Given the description of an element on the screen output the (x, y) to click on. 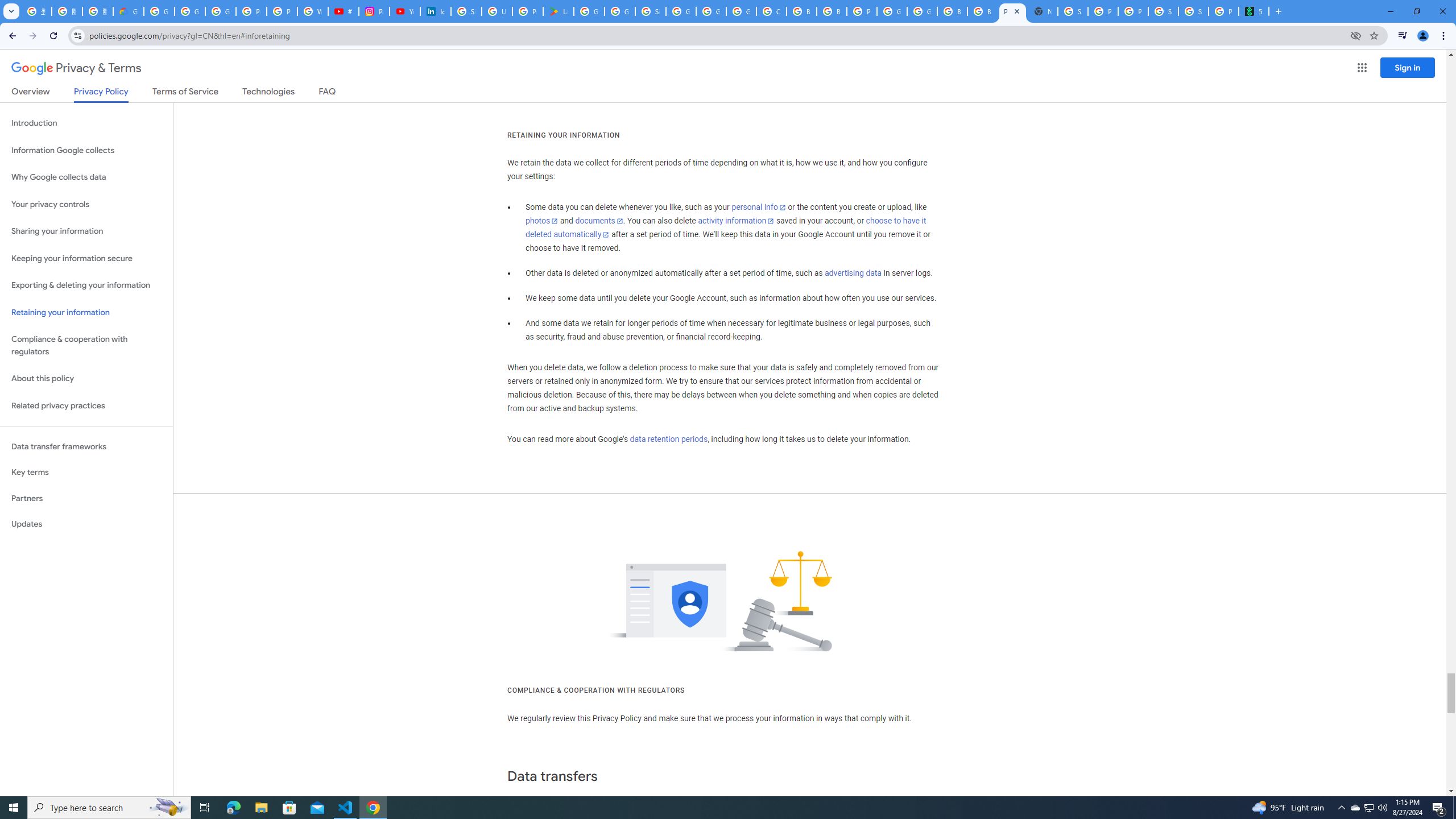
YouTube Culture & Trends - On The Rise: Handcam Videos (404, 11)
Information Google collects (86, 150)
Privacy Policy (100, 94)
Last Shelter: Survival - Apps on Google Play (558, 11)
#nbabasketballhighlights - YouTube (343, 11)
Browse Chrome as a guest - Computer - Google Chrome Help (951, 11)
